Given the description of an element on the screen output the (x, y) to click on. 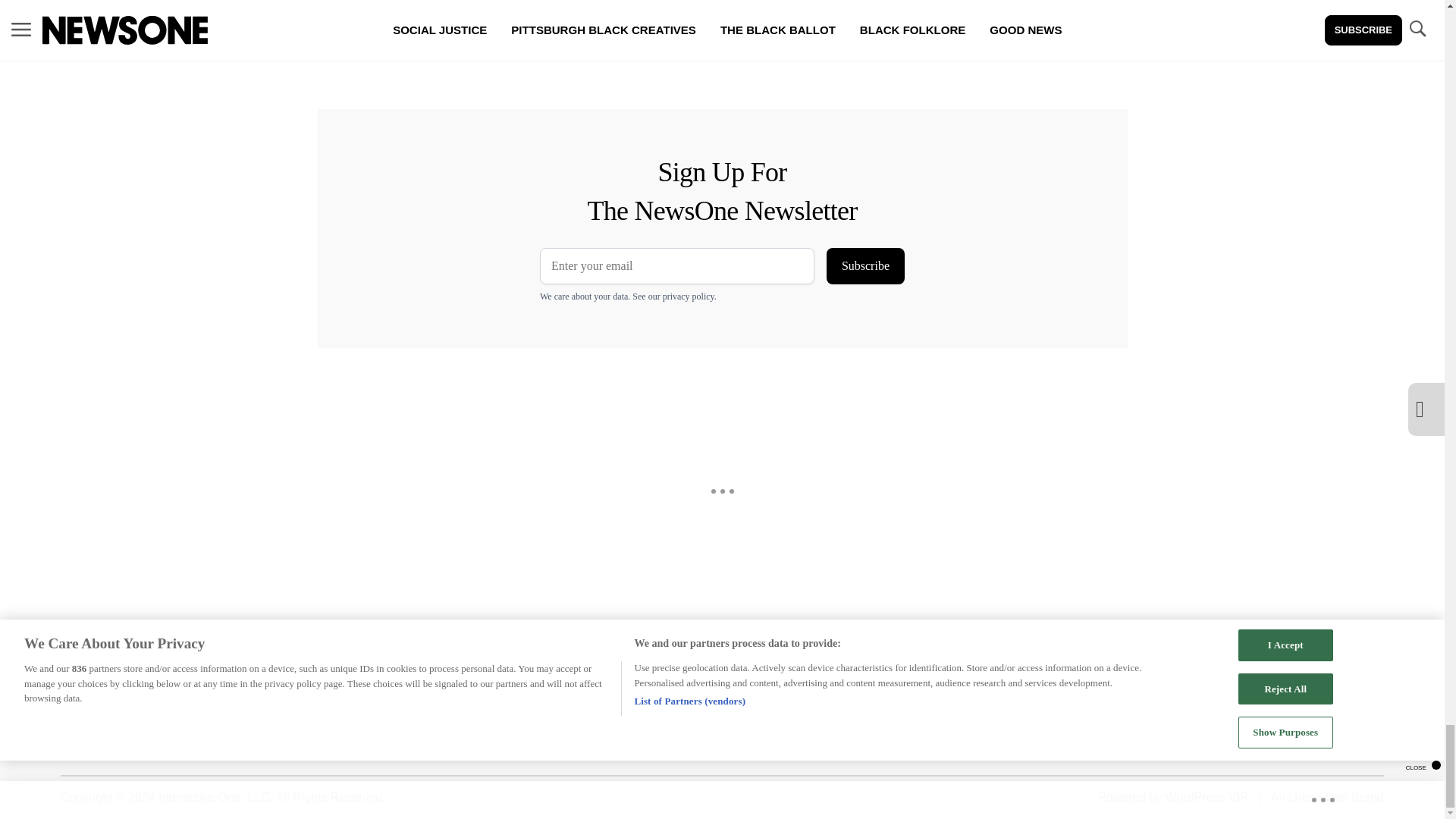
Vuukle Comments Widget (585, 54)
